Given the description of an element on the screen output the (x, y) to click on. 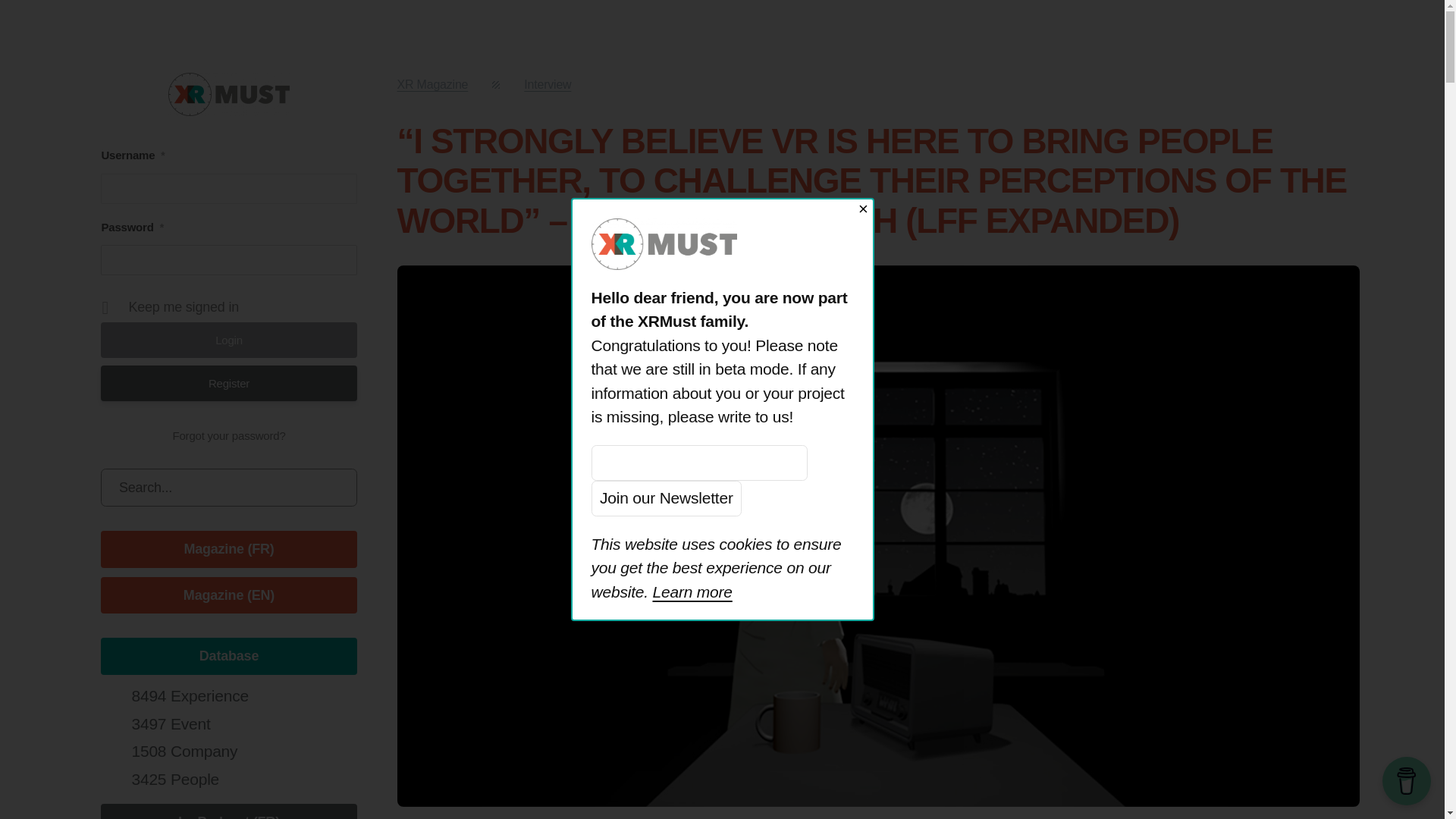
8494 Experience (189, 695)
Database (228, 656)
Interview (547, 83)
Register (228, 383)
XR Magazine (432, 83)
3497 Event (170, 723)
Login (228, 339)
1508 Company (184, 751)
3425 People (175, 778)
Join our Newsletter (666, 498)
Login (228, 339)
Forgot your password? (228, 435)
